Given the description of an element on the screen output the (x, y) to click on. 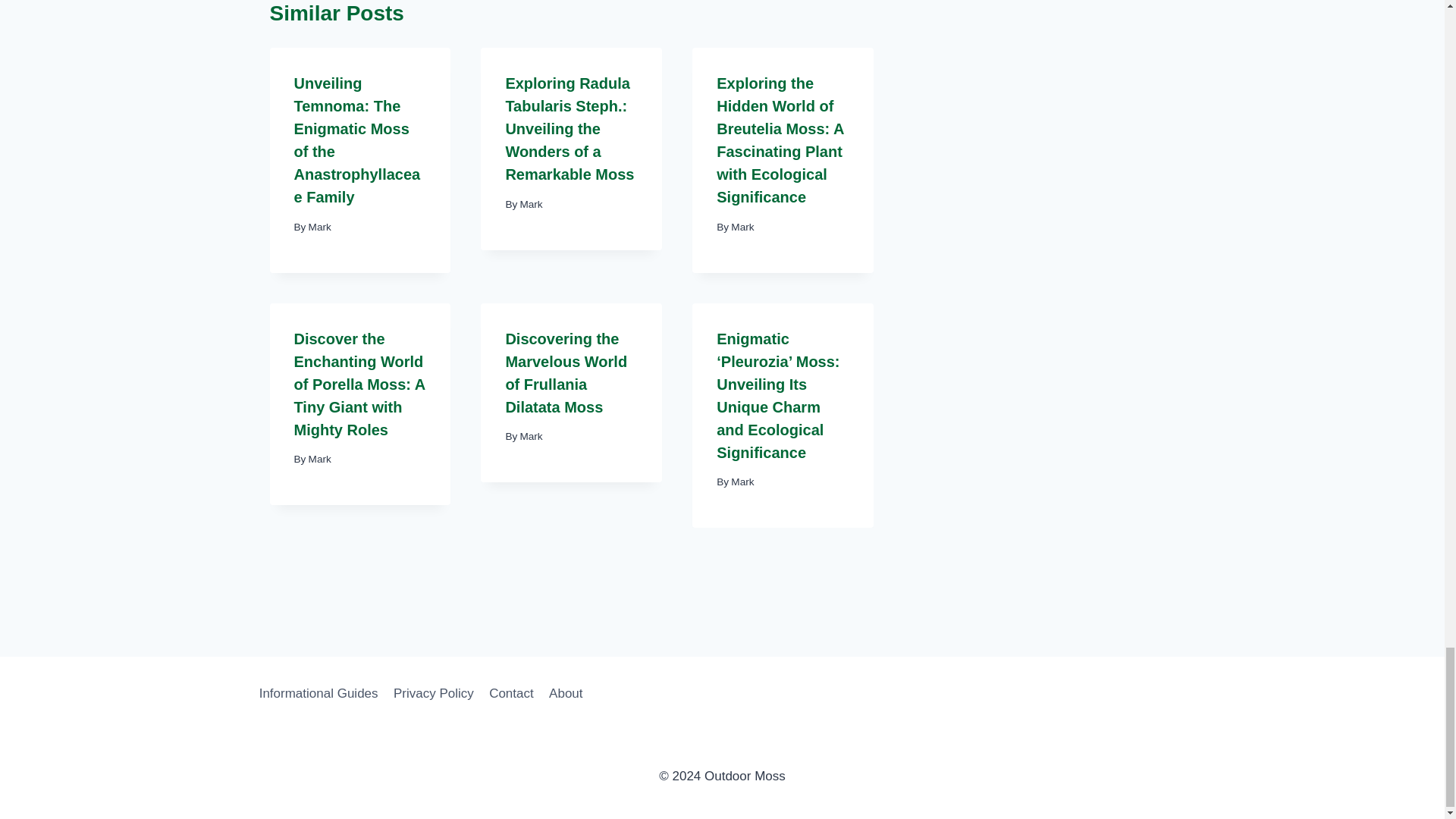
Mark (530, 204)
Mark (319, 226)
